Given the description of an element on the screen output the (x, y) to click on. 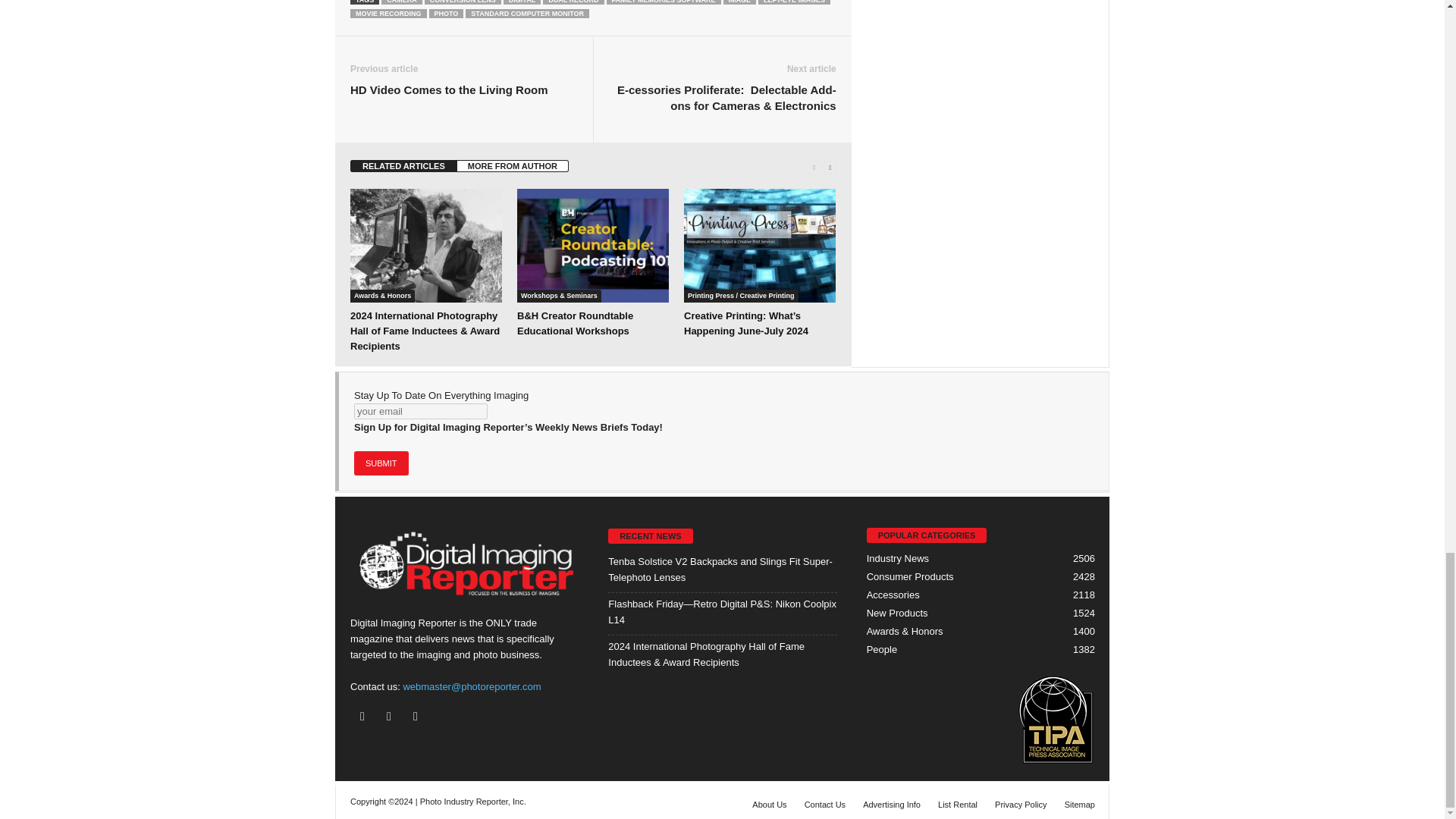
Submit (381, 463)
